Given the description of an element on the screen output the (x, y) to click on. 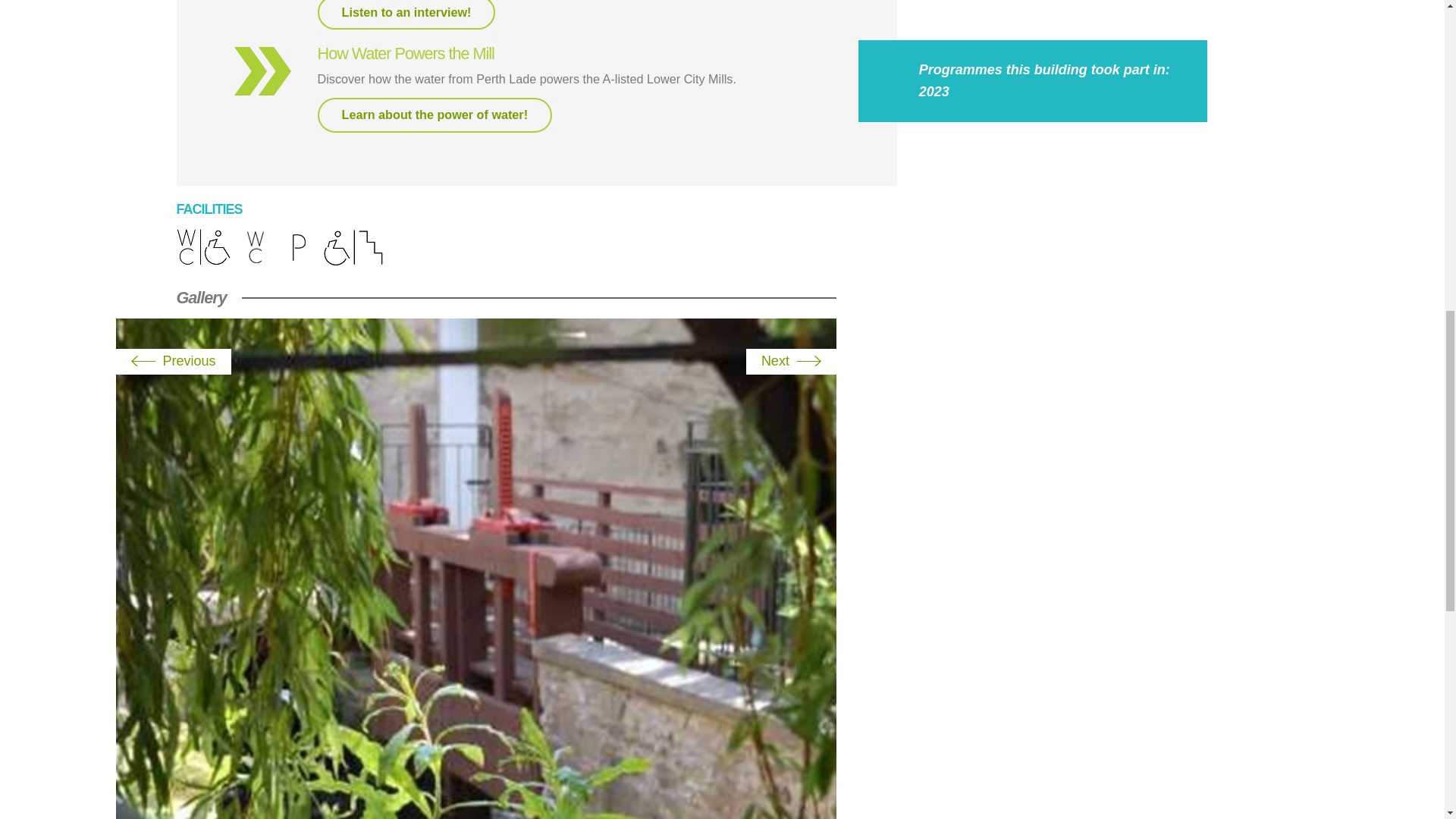
Listen to an interview! (406, 15)
Disabled WC (203, 248)
Limited Access (353, 248)
Learn about the power of water! (435, 114)
